Given the description of an element on the screen output the (x, y) to click on. 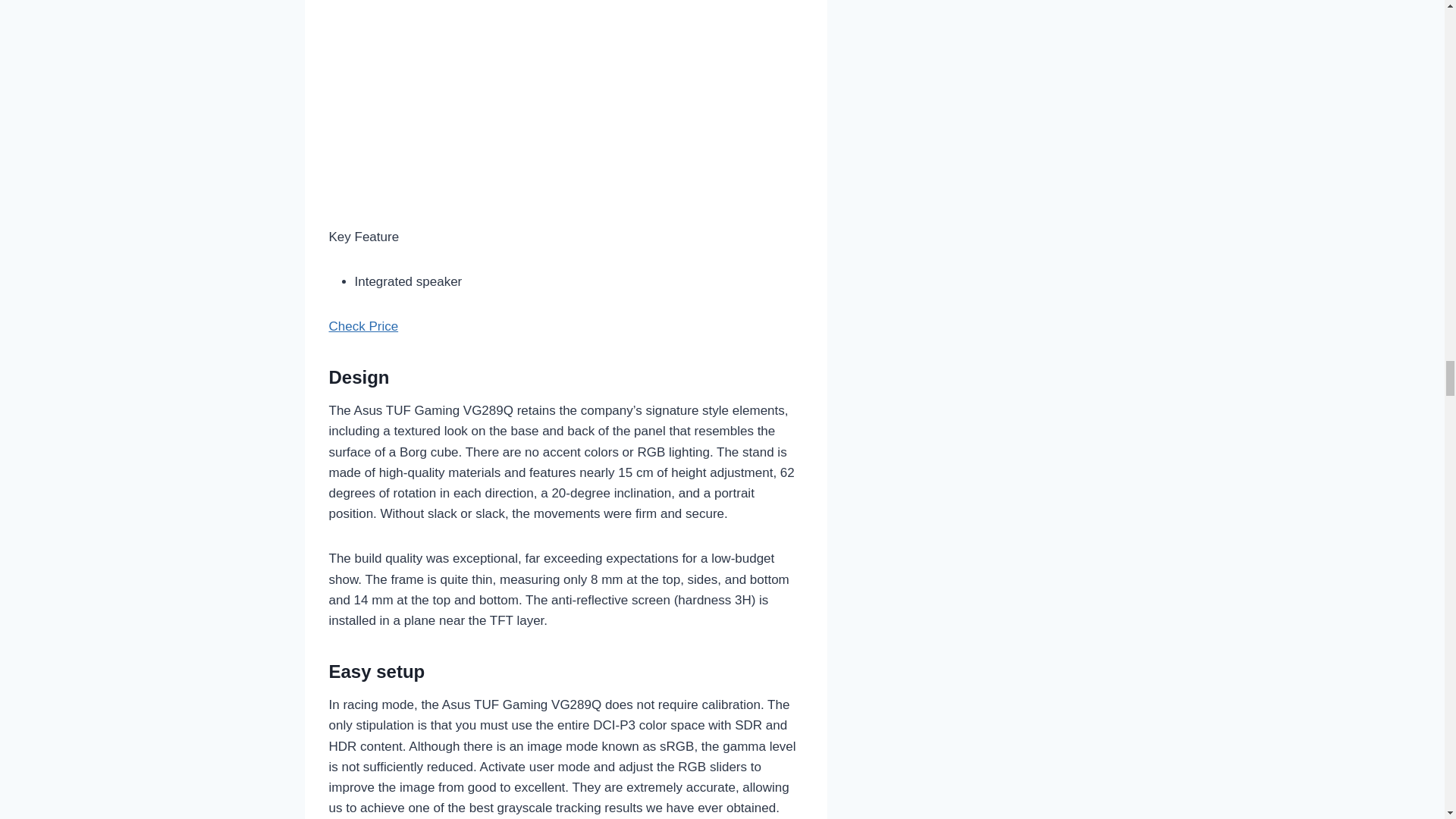
Check Price (363, 326)
